Given the description of an element on the screen output the (x, y) to click on. 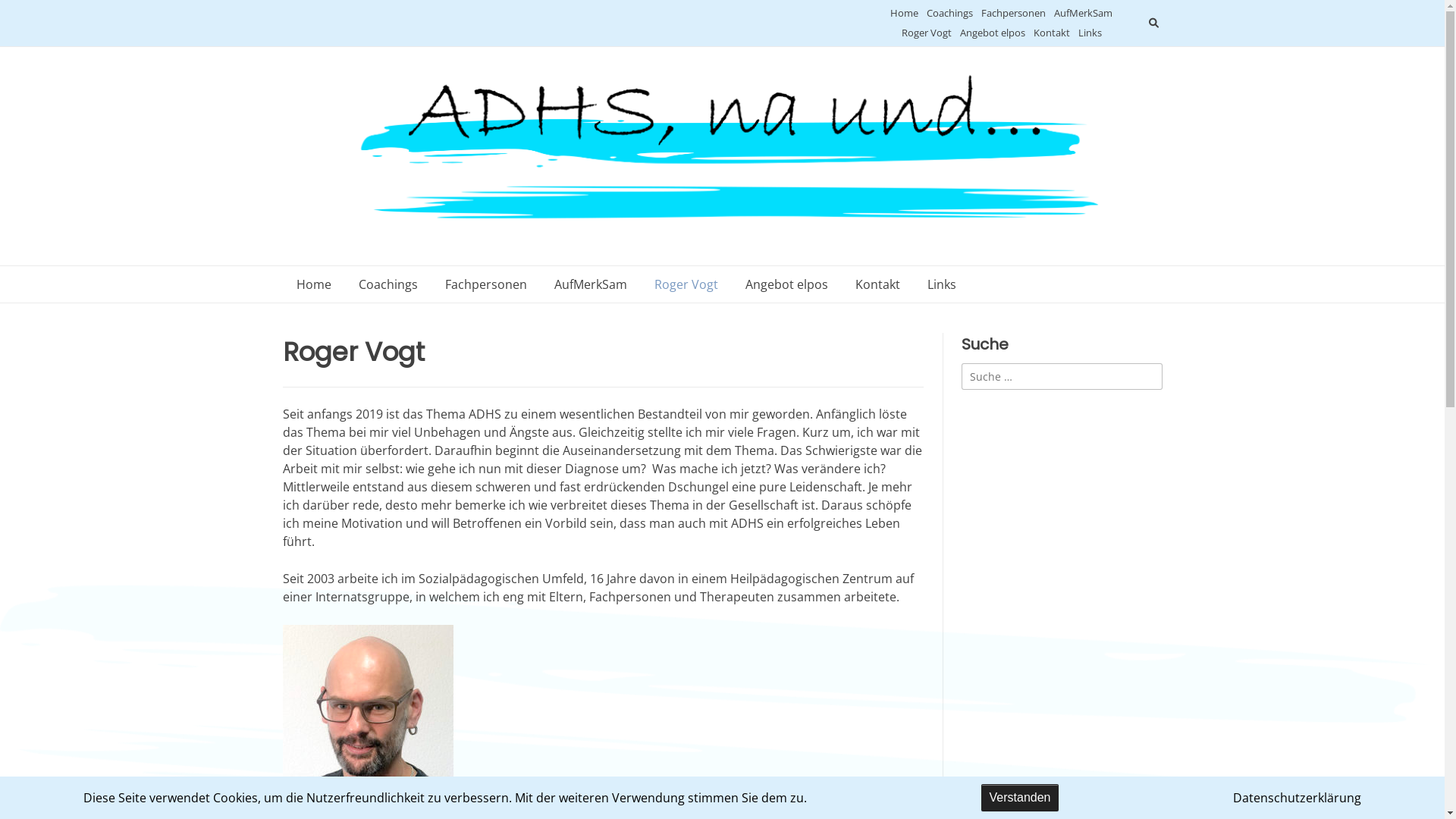
Home Element type: text (904, 13)
Roger Vogt Element type: text (926, 32)
Fachpersonen Element type: text (1013, 13)
Roger Vogt Element type: text (685, 284)
Kontakt Element type: text (1051, 32)
AufMerkSam Element type: text (1083, 13)
Kontakt Element type: text (877, 284)
Fachpersonen Element type: text (484, 284)
Coachings Element type: text (387, 284)
AufMerkSam Element type: text (589, 284)
Home Element type: text (313, 284)
Angebot elpos Element type: text (992, 32)
Links Element type: text (941, 284)
Angebot elpos Element type: text (785, 284)
Suche Element type: text (25, 13)
Coachings Element type: text (949, 13)
Links Element type: text (1089, 32)
Verstanden Element type: text (1020, 797)
